Given the description of an element on the screen output the (x, y) to click on. 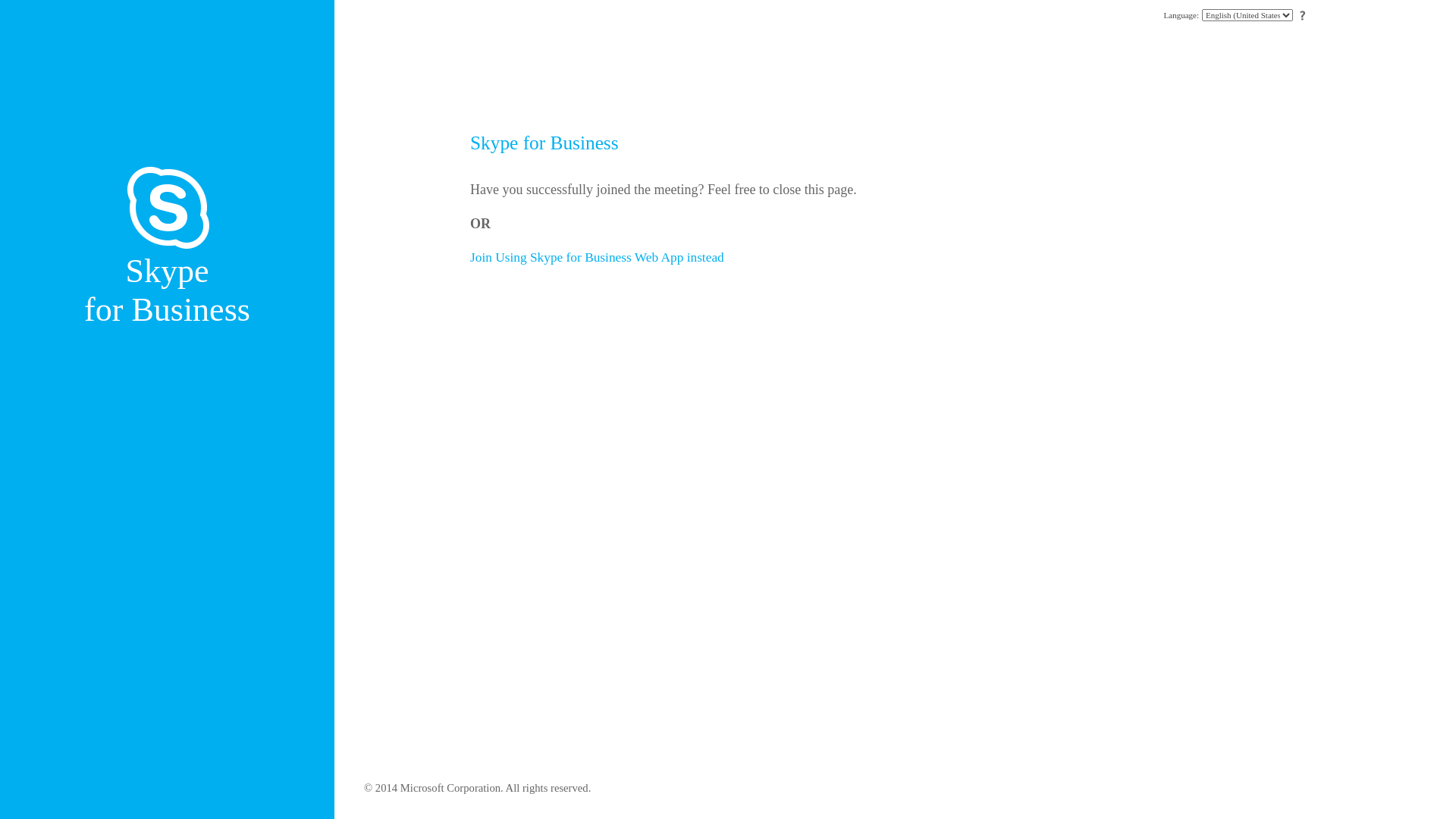
Online Help Element type: hover (1302, 15)
Join Using Skype for Business Web App instead Element type: text (597, 257)
Online Help Element type: hover (1302, 14)
